Given the description of an element on the screen output the (x, y) to click on. 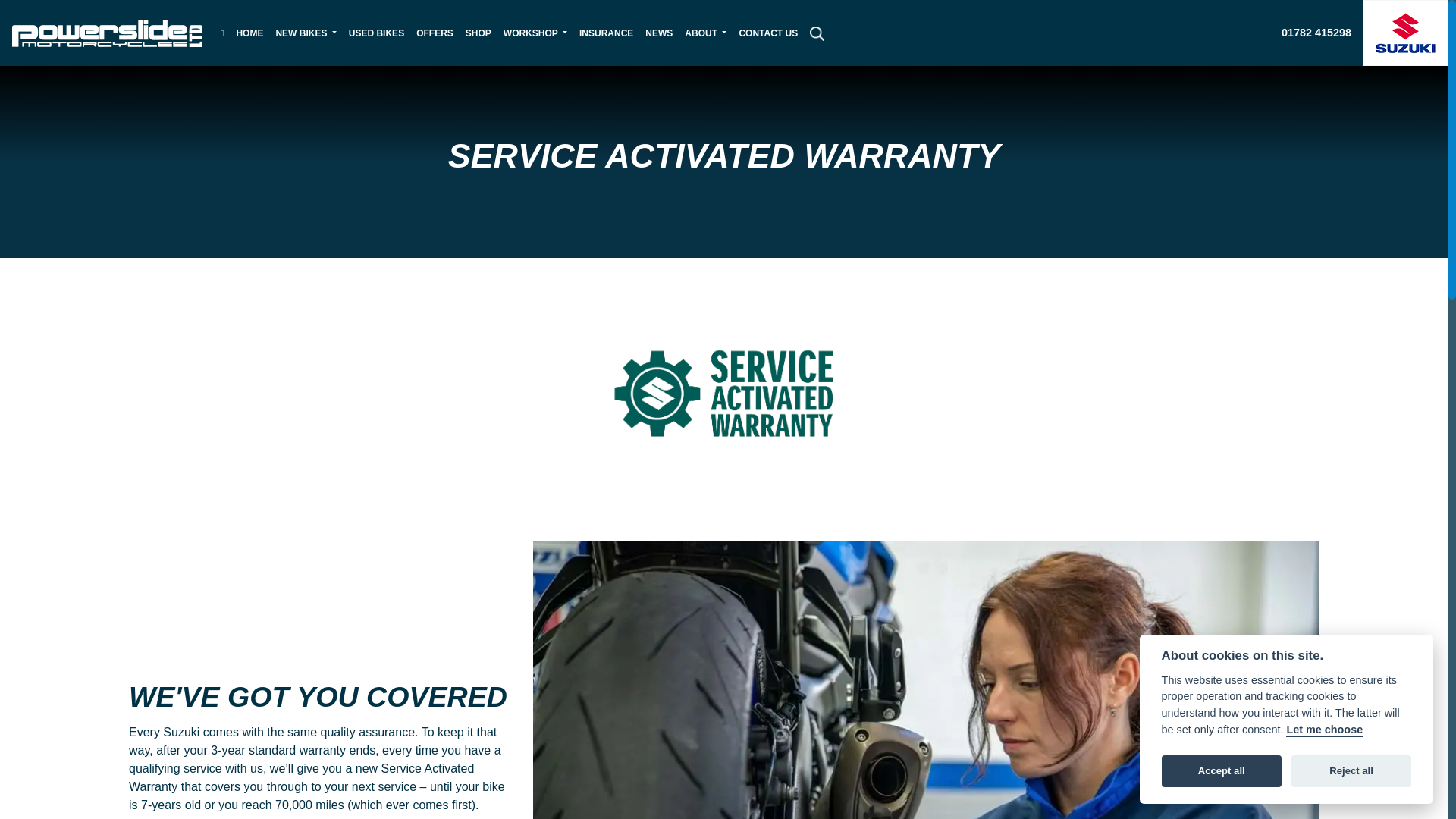
Used Bikes (376, 32)
Shop (478, 32)
NEWS (658, 32)
NEW BIKES (305, 32)
ABOUT (705, 32)
USED BIKES (376, 32)
News (658, 32)
SHOP (478, 32)
Accept all (1221, 771)
Reject all (1350, 771)
INSURANCE (606, 32)
01782 415298 (1316, 33)
OFFERS (435, 32)
Insurance (606, 32)
Contact Us (767, 32)
